Given the description of an element on the screen output the (x, y) to click on. 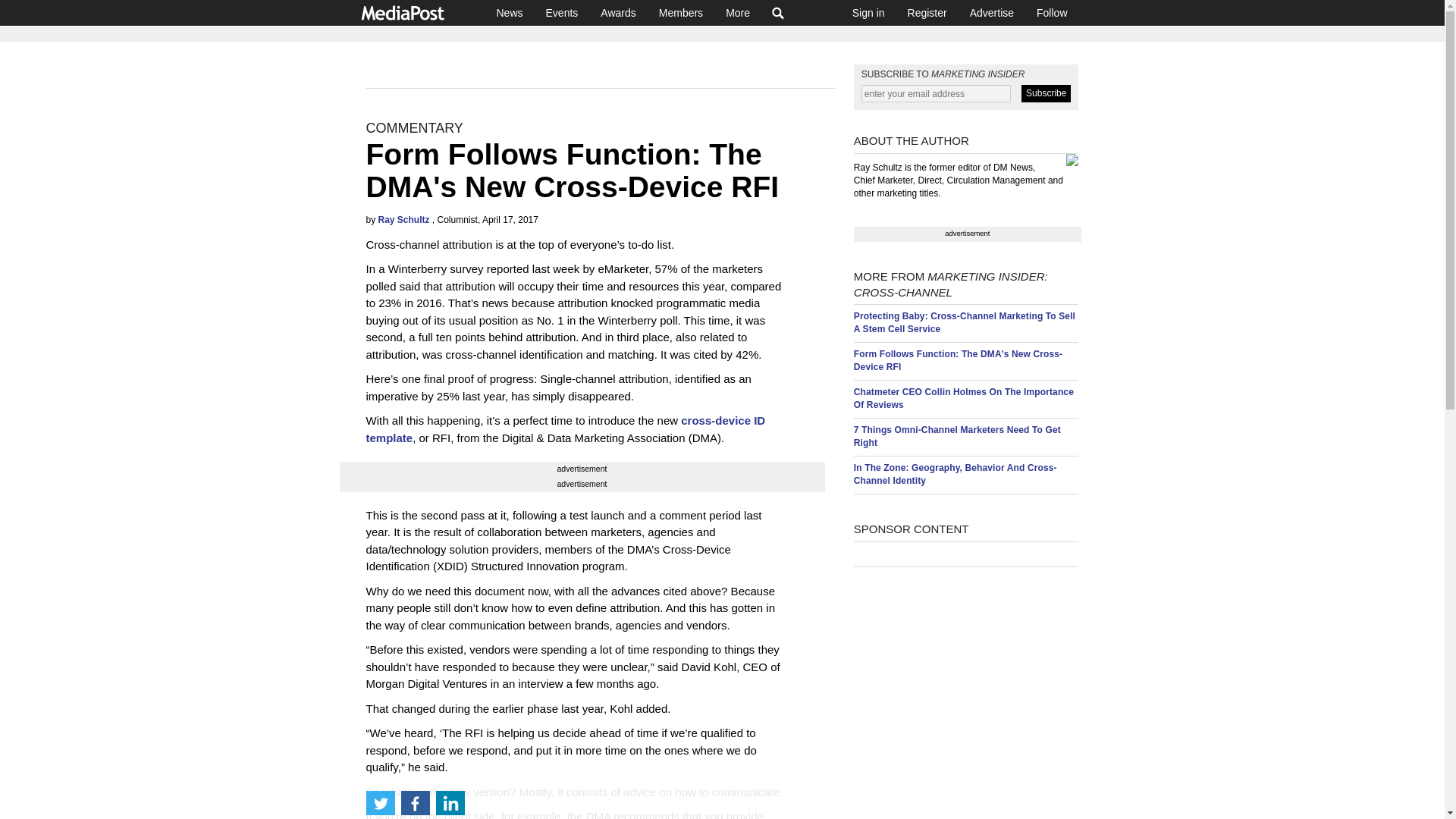
Share on Twitter (379, 802)
Subscribe (1046, 93)
Share on LinkedIn (449, 802)
News (509, 12)
Share on Facebook (414, 802)
